Given the description of an element on the screen output the (x, y) to click on. 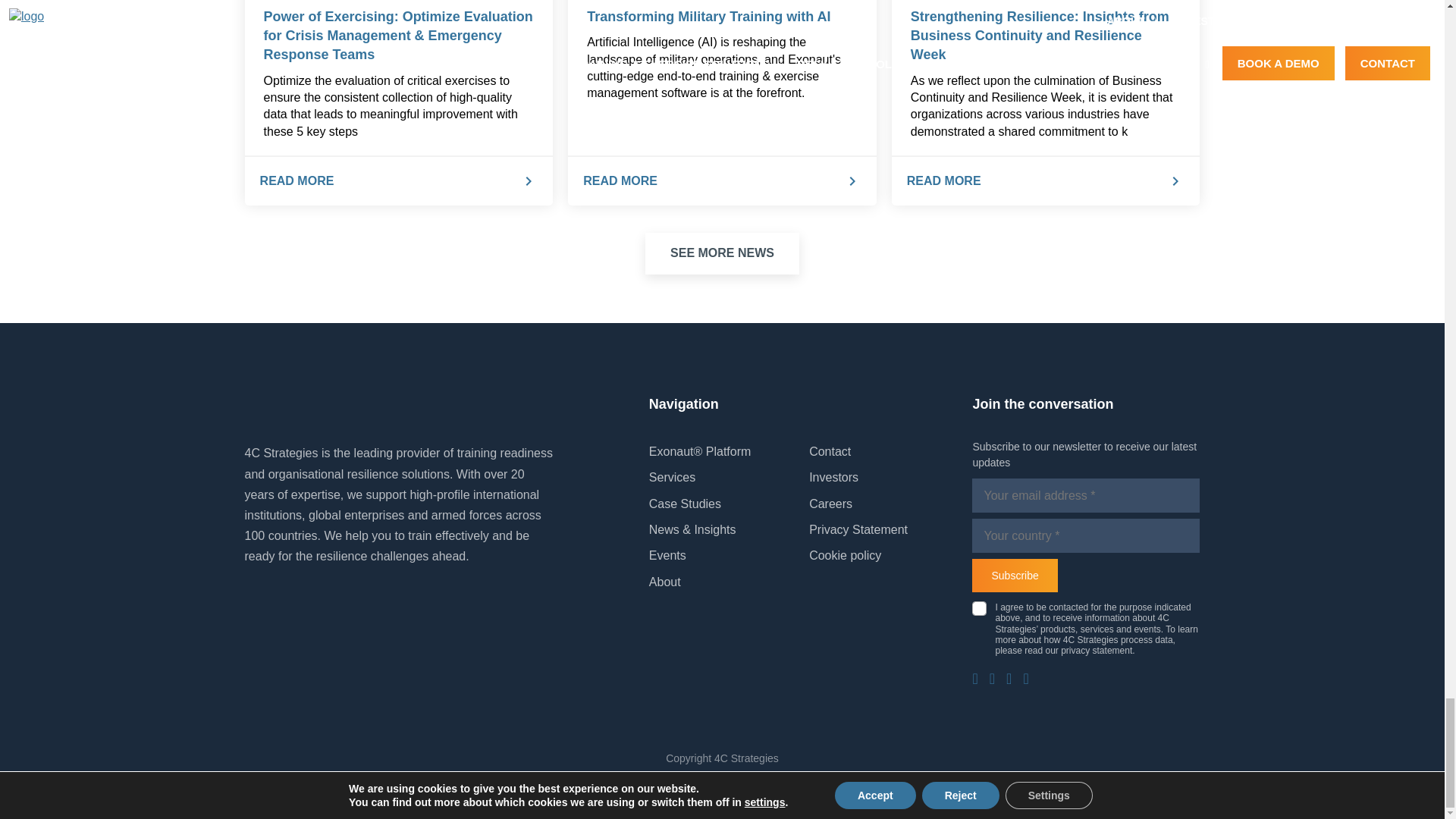
Subscribe (1014, 575)
